Given the description of an element on the screen output the (x, y) to click on. 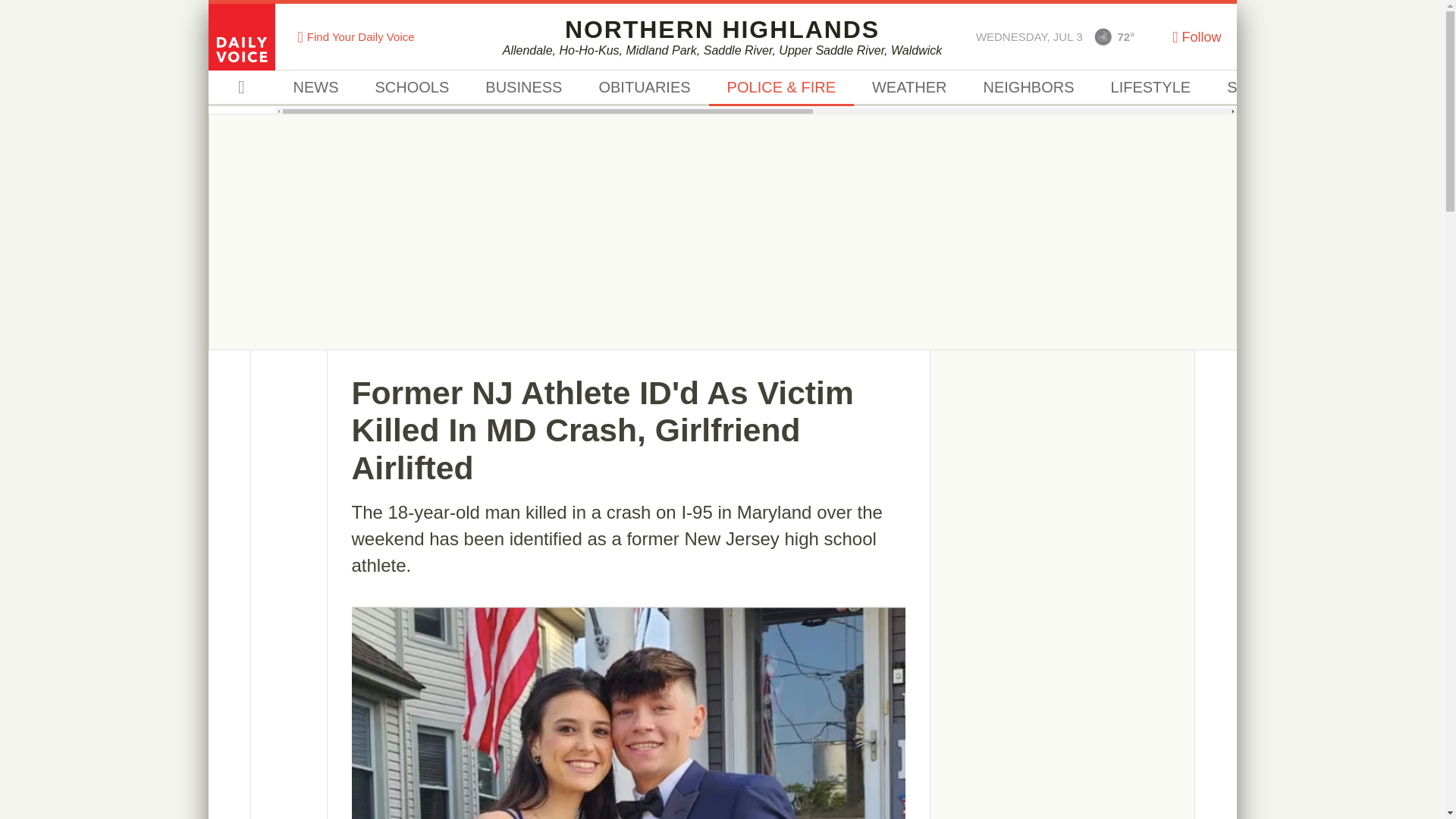
SCHOOLS (411, 88)
NEWS (315, 88)
OBITUARIES (643, 88)
Fair (1102, 36)
BUSINESS (523, 88)
NEIGHBORS (1027, 88)
LIFESTYLE (1151, 88)
WEATHER (909, 88)
EVENTS (1356, 88)
SPORTS (1257, 88)
